Given the description of an element on the screen output the (x, y) to click on. 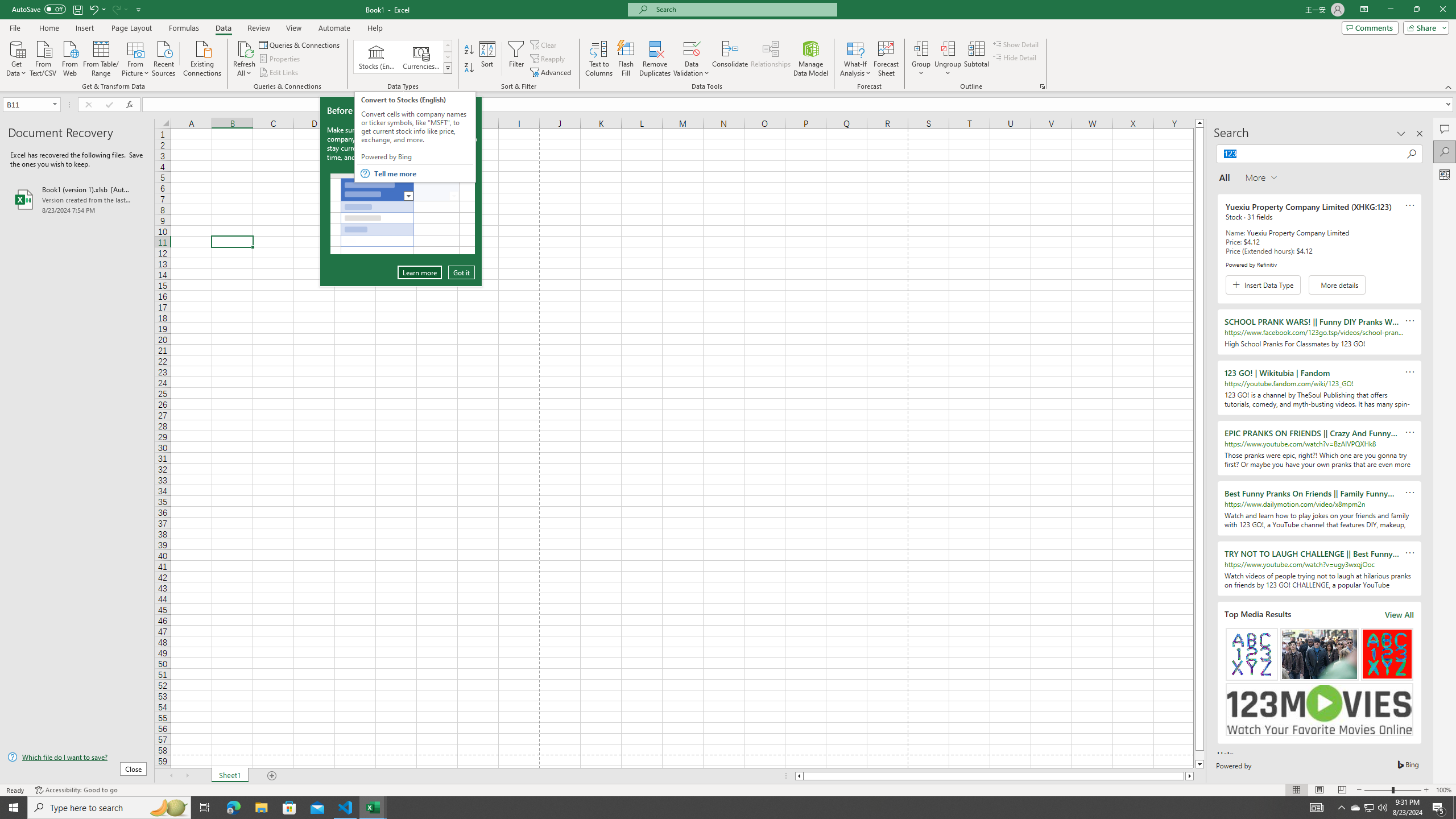
Visual Studio Code - 1 running window (345, 807)
User Promoted Notification Area (1368, 807)
Microsoft Store (289, 807)
